Given the description of an element on the screen output the (x, y) to click on. 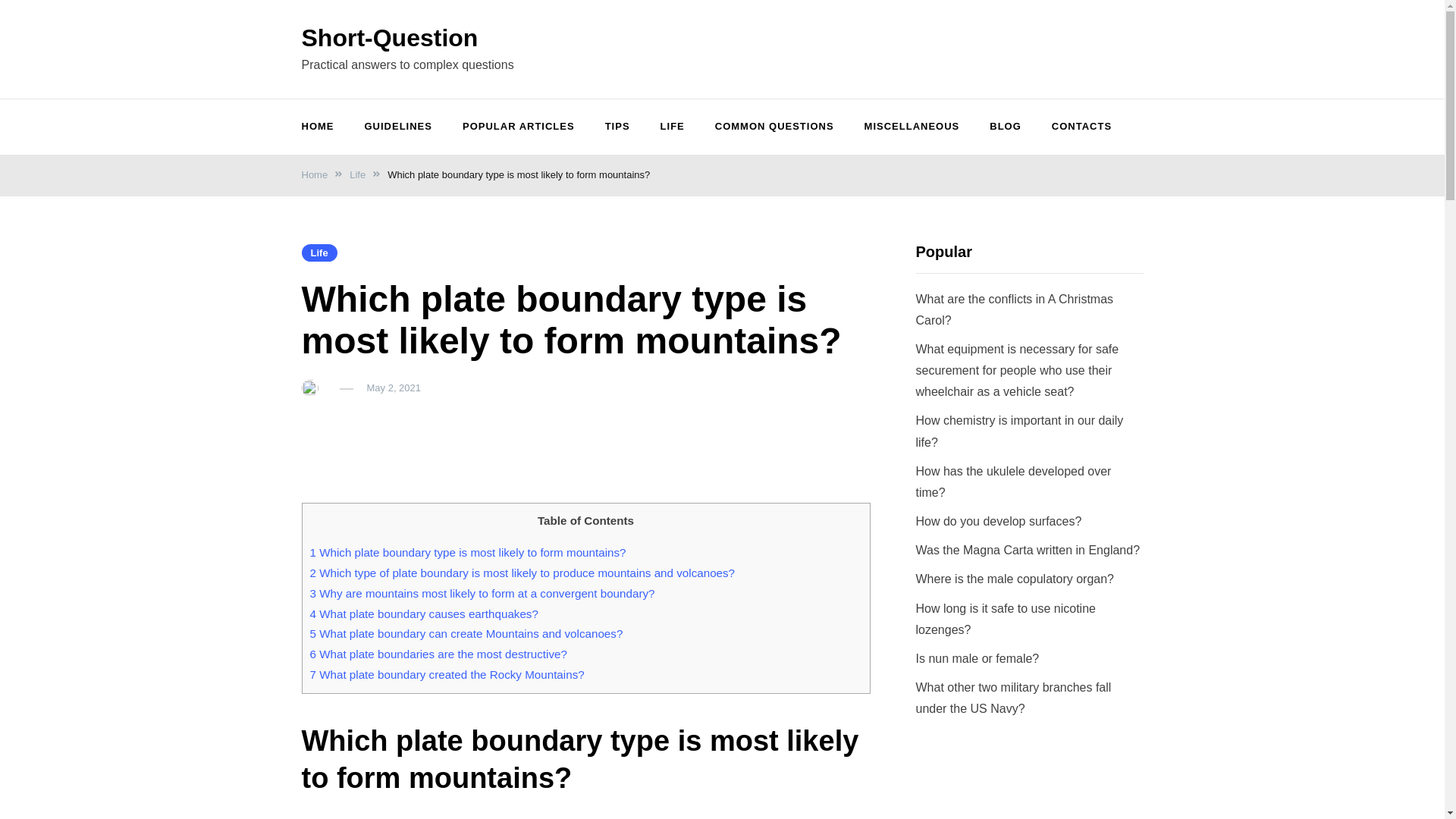
Life (357, 174)
6 What plate boundaries are the most destructive? (437, 653)
Short-Question (390, 37)
MISCELLANEOUS (911, 126)
5 What plate boundary can create Mountains and volcanoes? (465, 633)
7 What plate boundary created the Rocky Mountains? (445, 674)
4 What plate boundary causes earthquakes? (422, 612)
TIPS (617, 126)
COMMON QUESTIONS (774, 126)
BLOG (1005, 126)
Life (319, 252)
POPULAR ARTICLES (517, 126)
May 2, 2021 (394, 387)
